Given the description of an element on the screen output the (x, y) to click on. 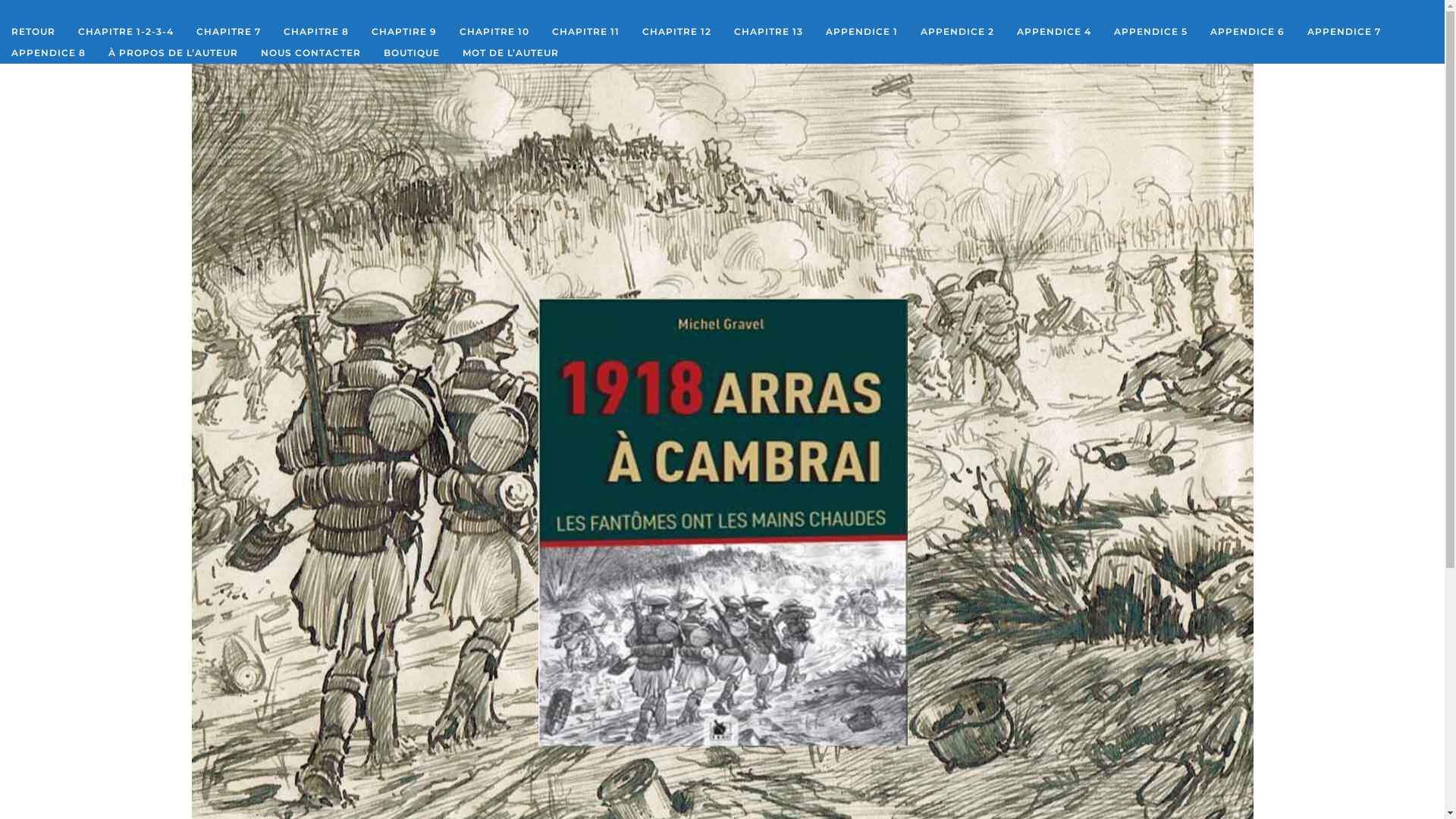
APPENDICE 8 Element type: text (48, 52)
CHAPTIRE 9 Element type: text (404, 31)
APPENDICE 6 Element type: text (1246, 31)
APPENDICE 4 Element type: text (1053, 31)
CHAPITRE 1-2-3-4 Element type: text (125, 31)
CHAPITRE 8 Element type: text (316, 31)
CHAPITRE 10 Element type: text (494, 31)
CHAPITRE 7 Element type: text (228, 31)
APPENDICE 5 Element type: text (1150, 31)
APPENDICE 2 Element type: text (957, 31)
APPENDICE 1 Element type: text (861, 31)
BOUTIQUE Element type: text (411, 52)
NOUS CONTACTER Element type: text (310, 52)
APPENDICE 7 Element type: text (1343, 31)
CHAPITRE 11 Element type: text (585, 31)
CHAPITRE 12 Element type: text (676, 31)
RETOUR Element type: text (33, 31)
CHAPITRE 13 Element type: text (768, 31)
